Given the description of an element on the screen output the (x, y) to click on. 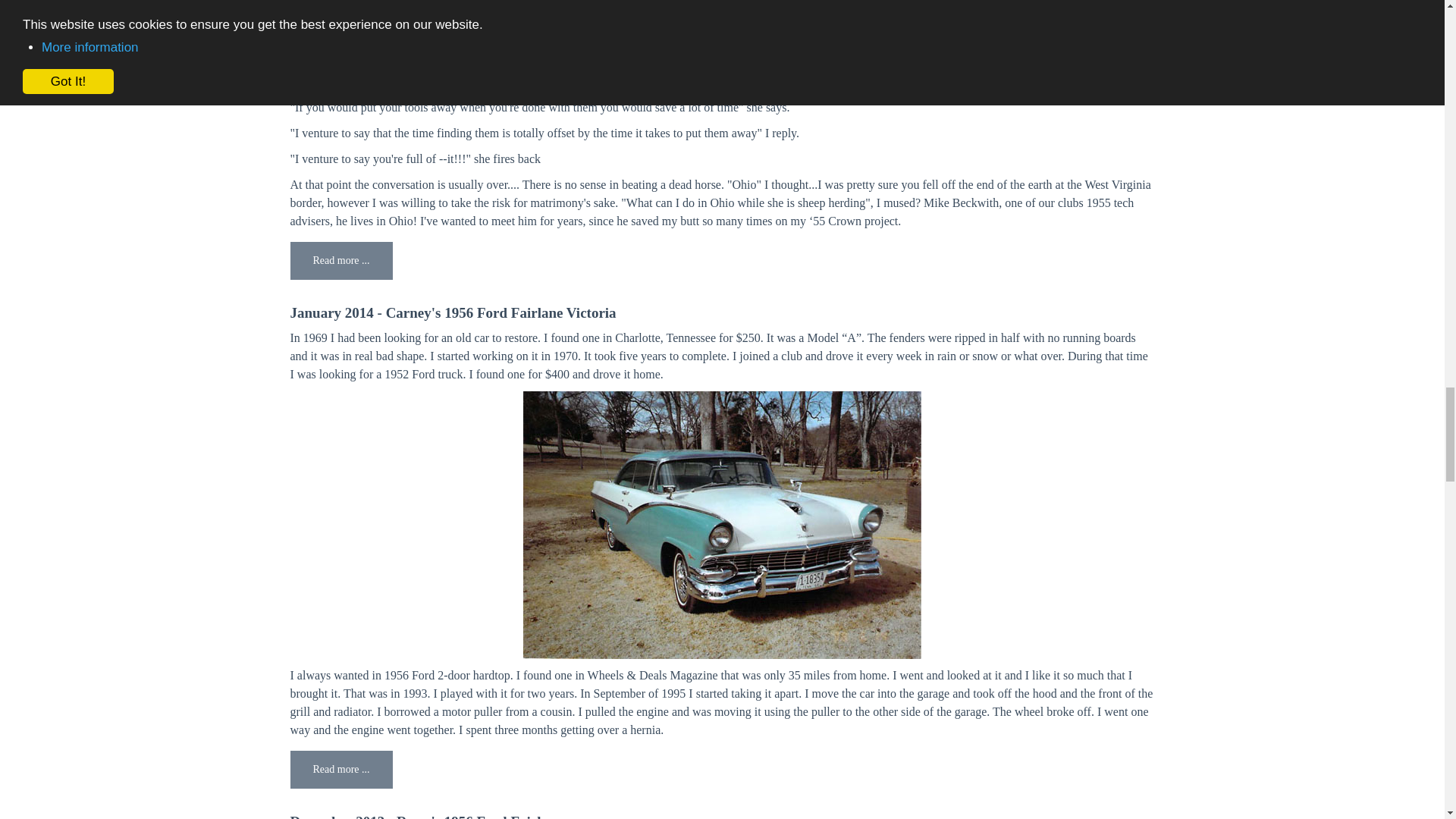
January 2014 - Carney's 1956 Ford Fairlane Victoria (452, 312)
Read more ... (340, 260)
December 2013 - Rowe's 1956 Ford Fairlane (425, 816)
Read more ... (340, 769)
